Given the description of an element on the screen output the (x, y) to click on. 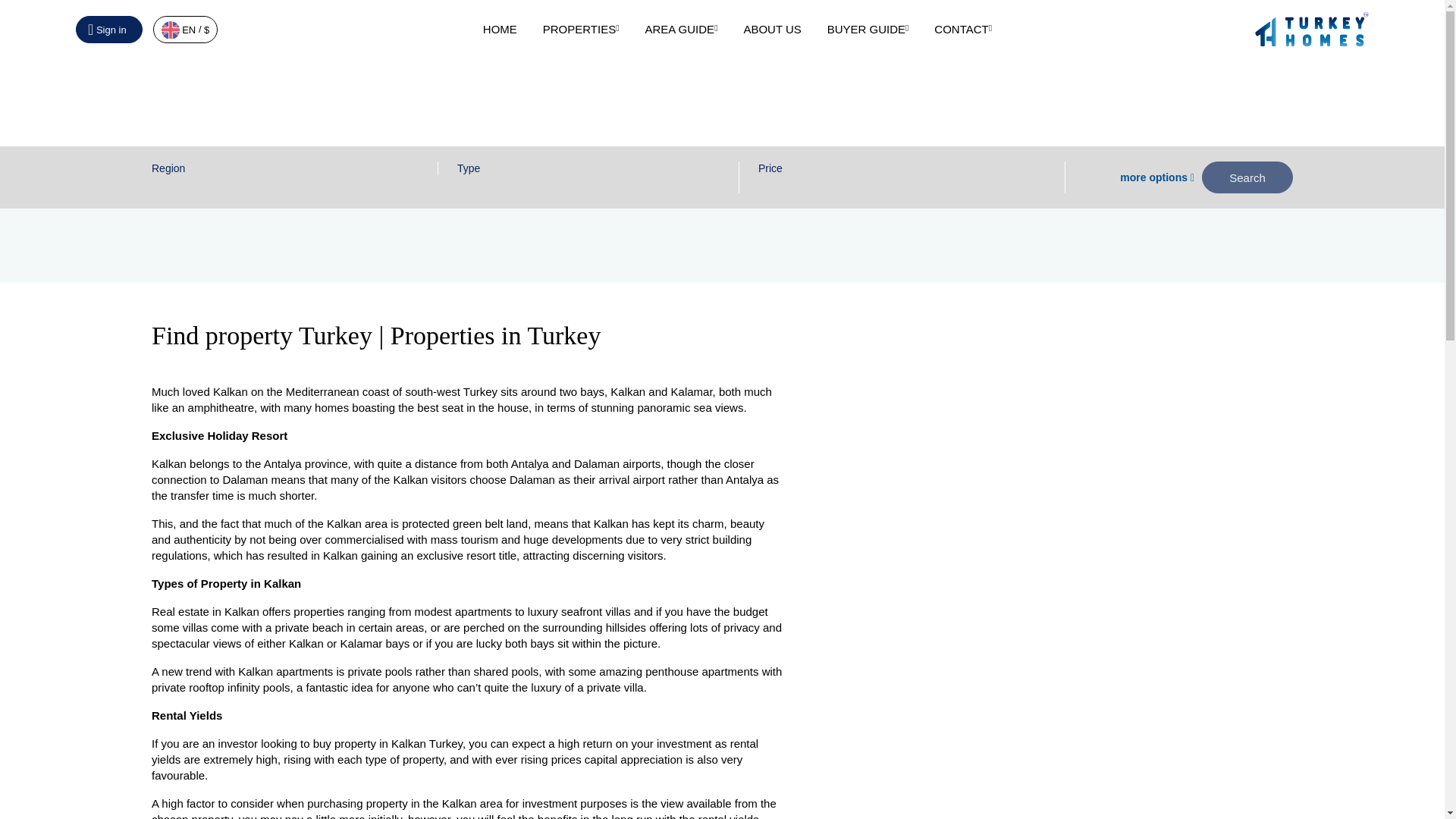
ABOUT US (771, 28)
Sign in (108, 29)
PROPERTIES (581, 28)
AREA GUIDE (681, 28)
BUYER GUIDE (867, 28)
HOME (499, 28)
Search (1247, 177)
